Given the description of an element on the screen output the (x, y) to click on. 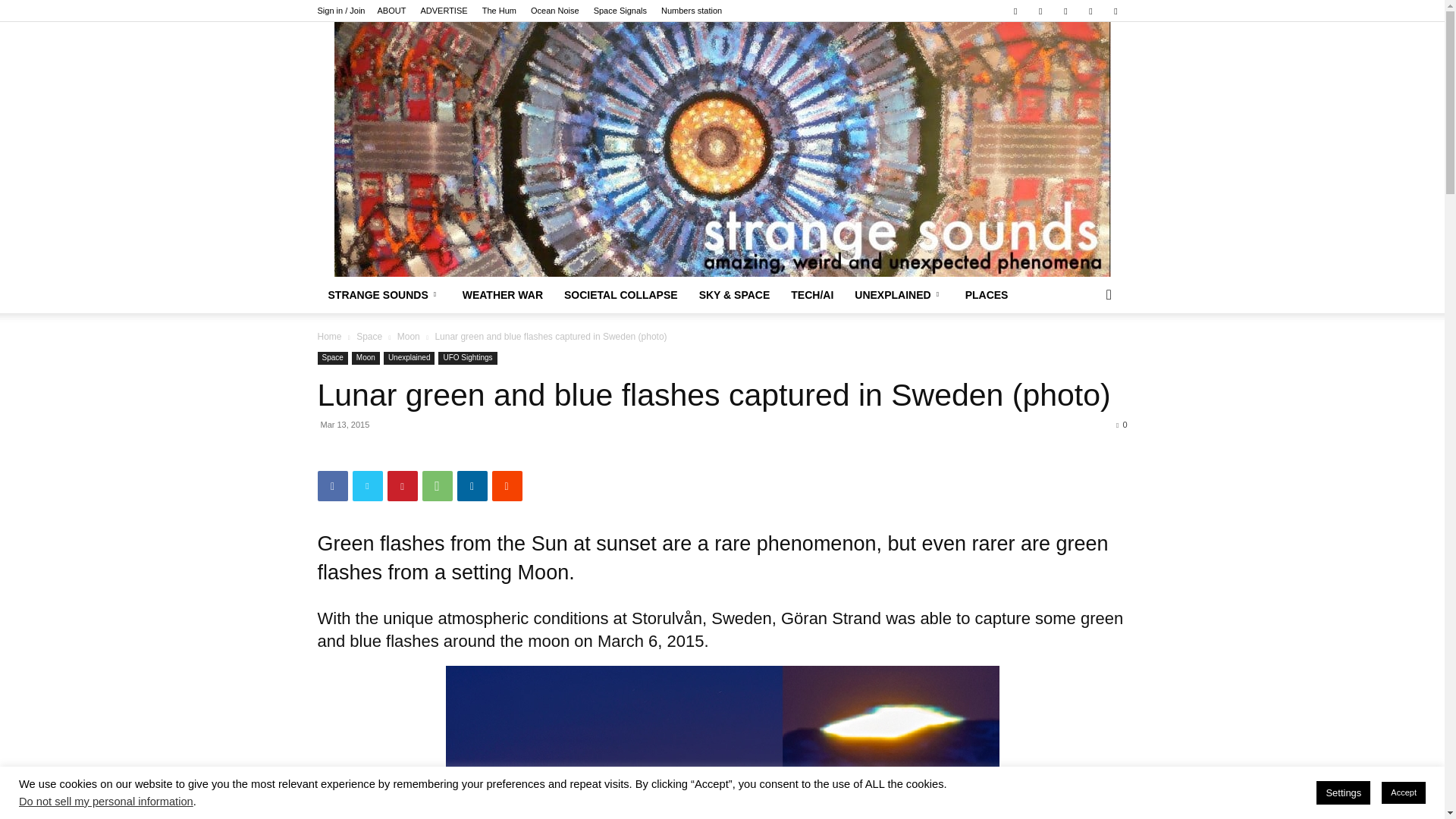
Ocean Noise (555, 10)
The Hum mysterious phenomenon (498, 10)
The Hum (498, 10)
About Strange Sounds (391, 10)
Paypal (1040, 10)
Youtube (1114, 10)
Space Signals (620, 10)
ADVERTISE (443, 10)
ADVERTISE ON STRANGE SOUNDS (443, 10)
Facebook (1015, 10)
Unexplained sounds of the deep ocean (555, 10)
Numbers station (691, 10)
